Given the description of an element on the screen output the (x, y) to click on. 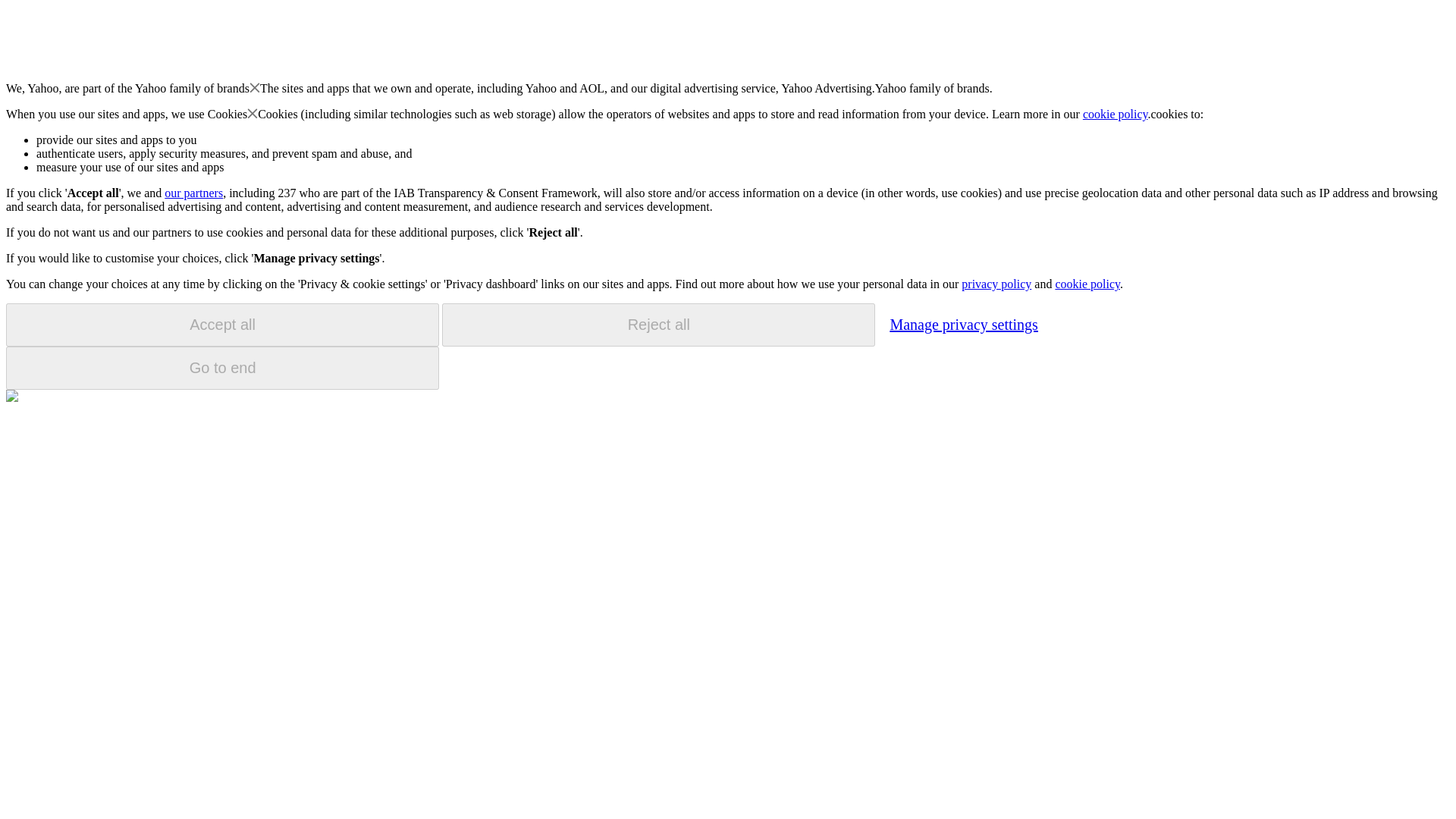
privacy policy (995, 283)
Accept all (222, 324)
Go to end (222, 367)
our partners (193, 192)
Reject all (658, 324)
cookie policy (1115, 113)
Manage privacy settings (963, 323)
cookie policy (1086, 283)
